Given the description of an element on the screen output the (x, y) to click on. 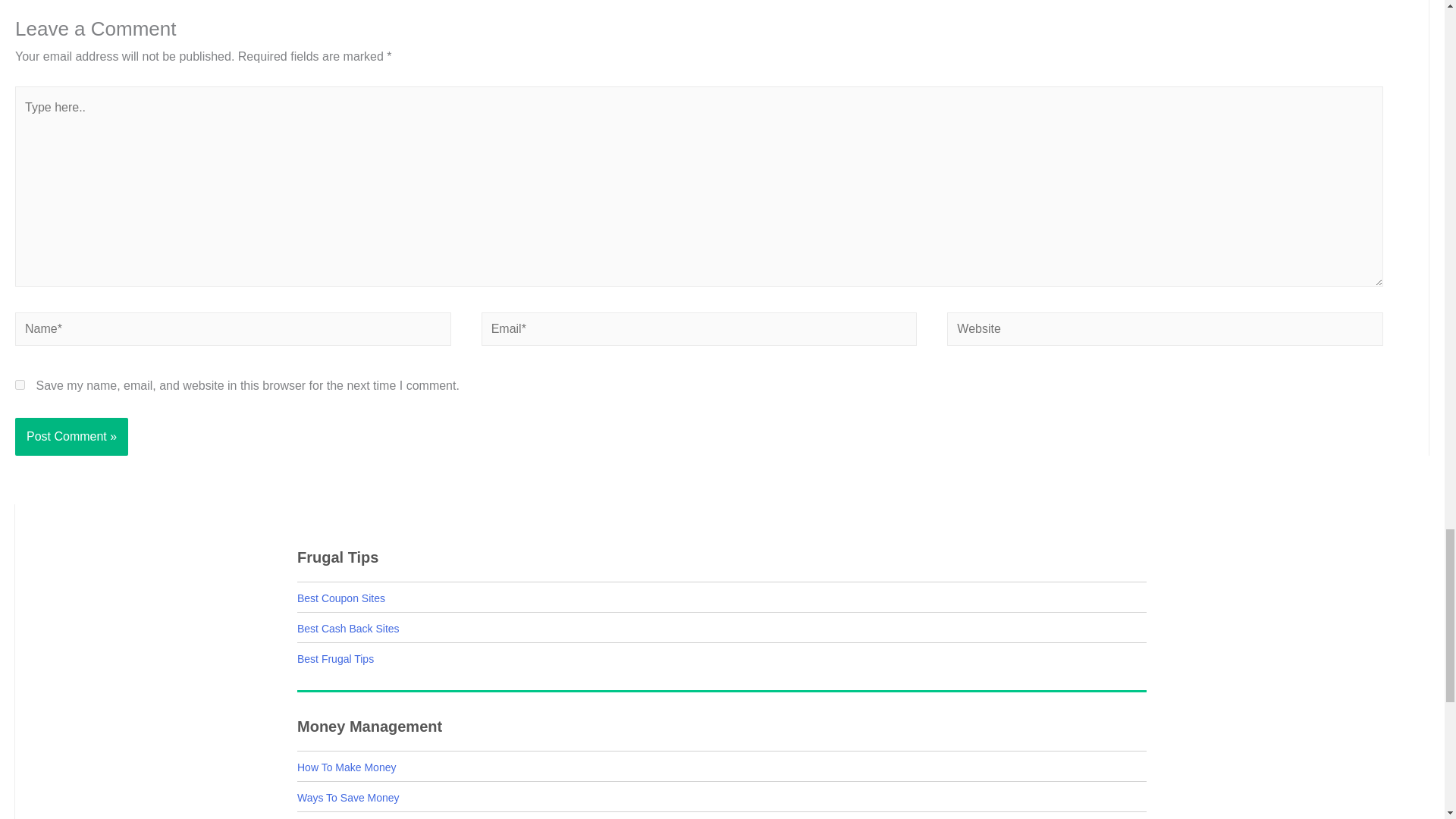
Ways To Save Money (347, 797)
Best Cash Back Sites (347, 628)
yes (19, 384)
How To Make Money (346, 767)
Best Frugal Tips (335, 658)
Best Coupon Sites (341, 598)
